Given the description of an element on the screen output the (x, y) to click on. 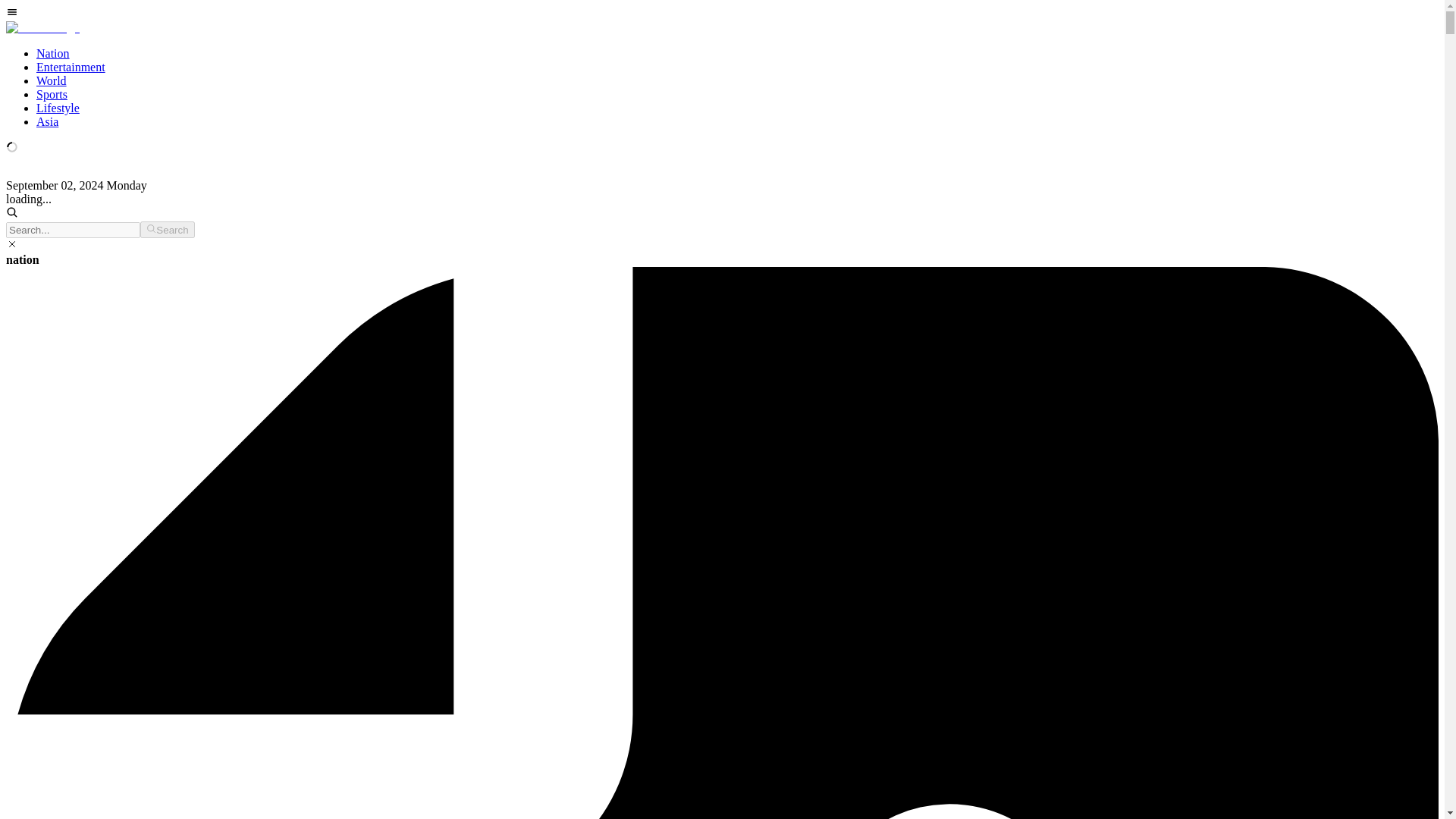
Nation (52, 52)
Search (167, 229)
Entertainment (70, 66)
World (51, 80)
Asia (47, 121)
Sports (51, 93)
Lifestyle (58, 107)
